Given the description of an element on the screen output the (x, y) to click on. 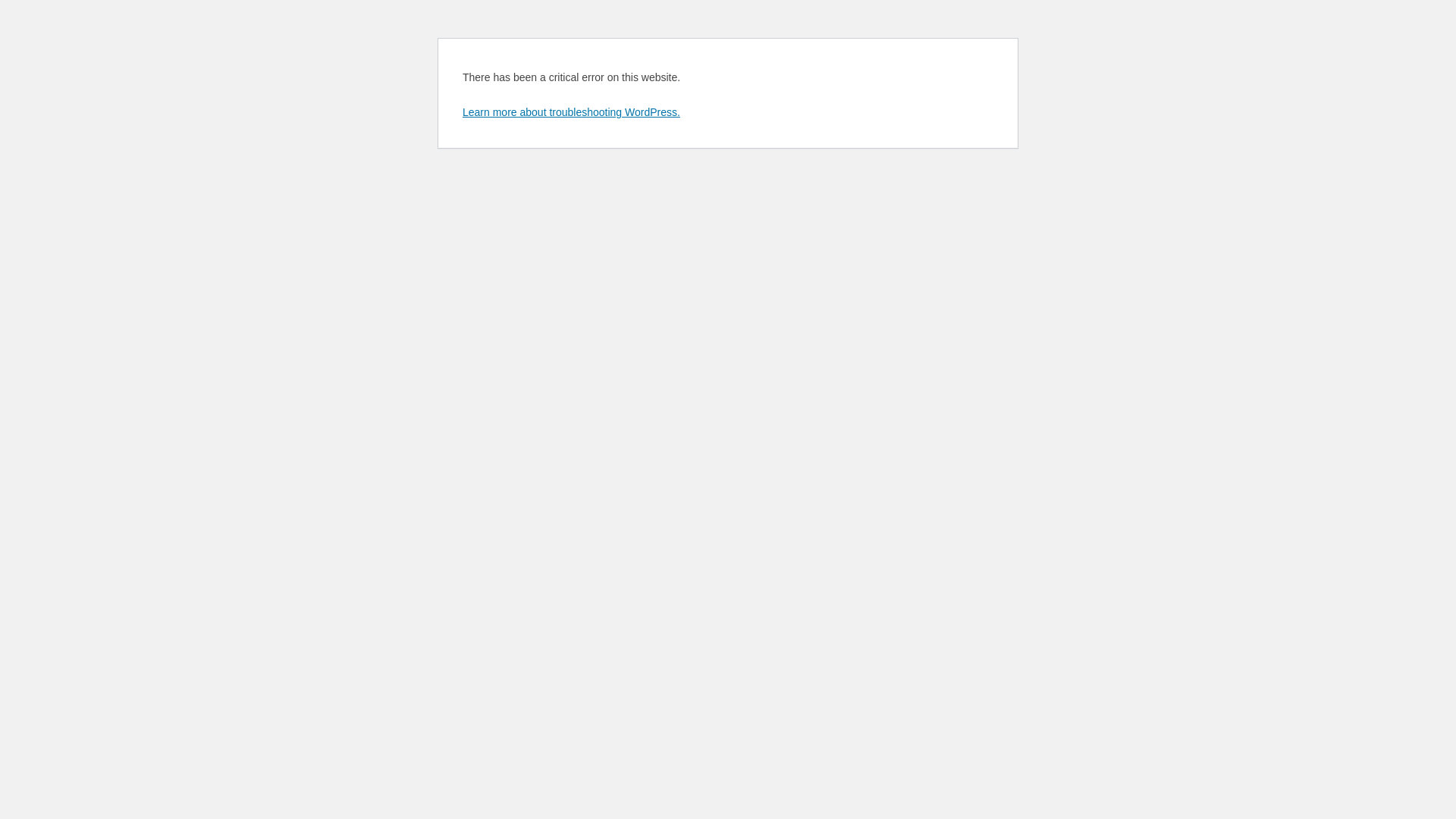
Learn more about troubleshooting WordPress. Element type: text (571, 112)
